Given the description of an element on the screen output the (x, y) to click on. 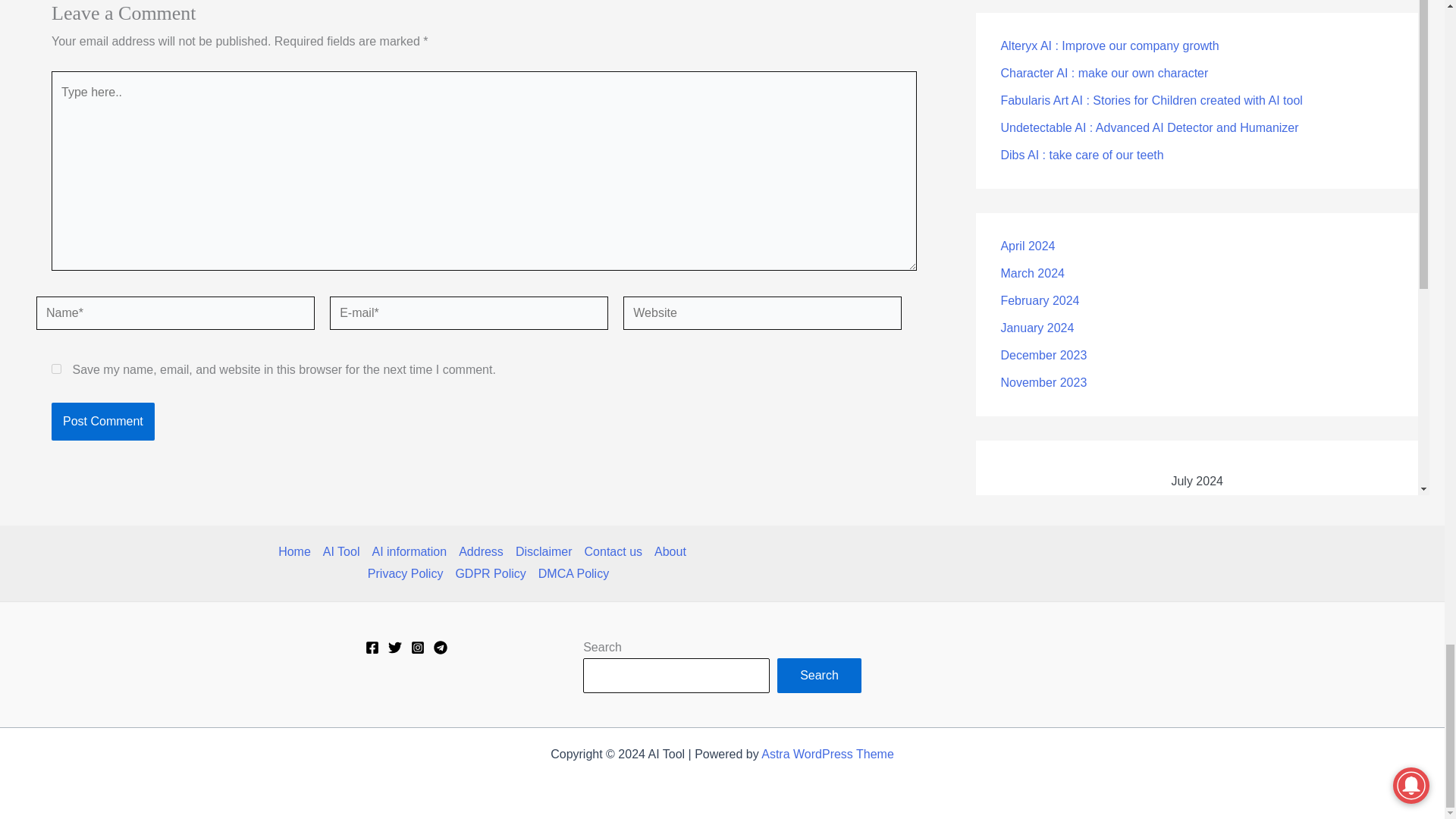
Post Comment (102, 421)
yes (55, 368)
